Given the description of an element on the screen output the (x, y) to click on. 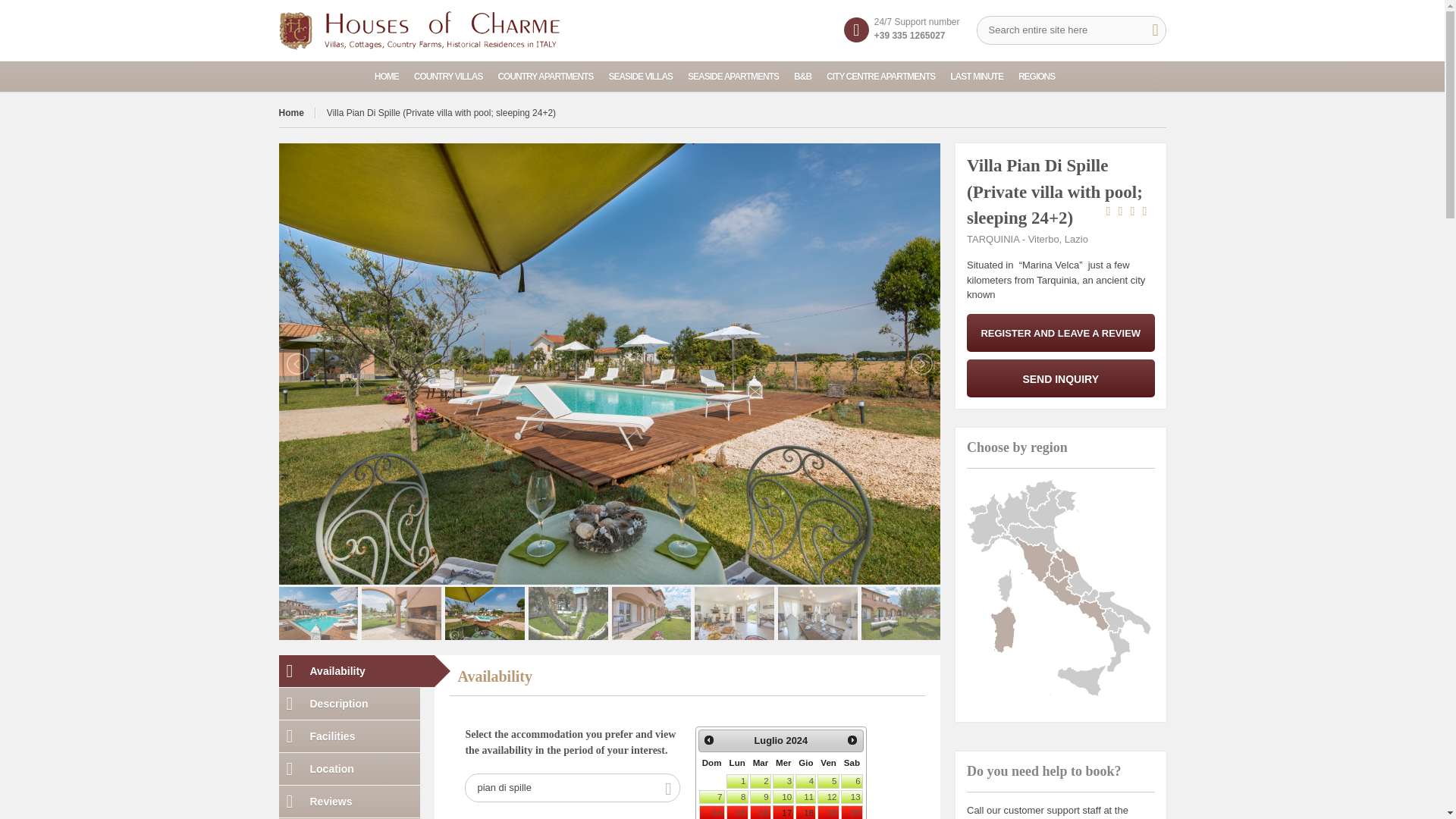
Reviews (349, 801)
SEASIDE APARTMENTS (740, 76)
COUNTRY VILLAS (455, 76)
CITY CENTRE APARTMENTS (888, 76)
SEASIDE VILLAS (647, 76)
Facilities (349, 736)
Description (349, 703)
Send inquiry (1060, 378)
Availability (356, 671)
REGIONS (1043, 76)
LAST MINUTE (983, 76)
COUNTRY APARTMENTS (552, 76)
Home (297, 112)
